Given the description of an element on the screen output the (x, y) to click on. 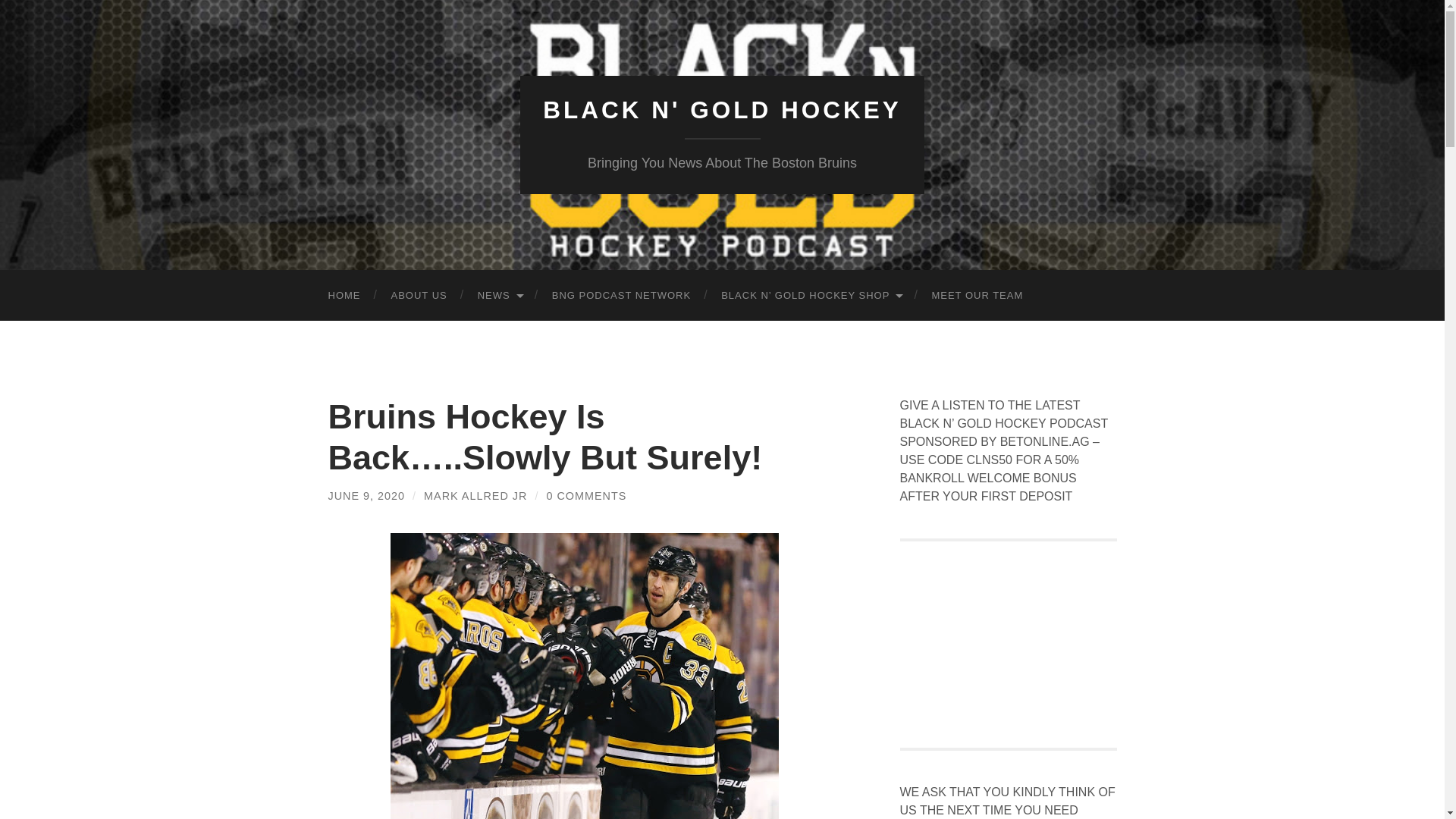
MARK ALLRED JR (475, 495)
BLACK N' GOLD HOCKEY (722, 109)
0 COMMENTS (586, 495)
NEWS (500, 295)
Posts by Mark Allred Jr (475, 495)
MEET OUR TEAM (976, 295)
HOME (344, 295)
JUNE 9, 2020 (365, 495)
ABOUT US (419, 295)
BNG PODCAST NETWORK (621, 295)
